Given the description of an element on the screen output the (x, y) to click on. 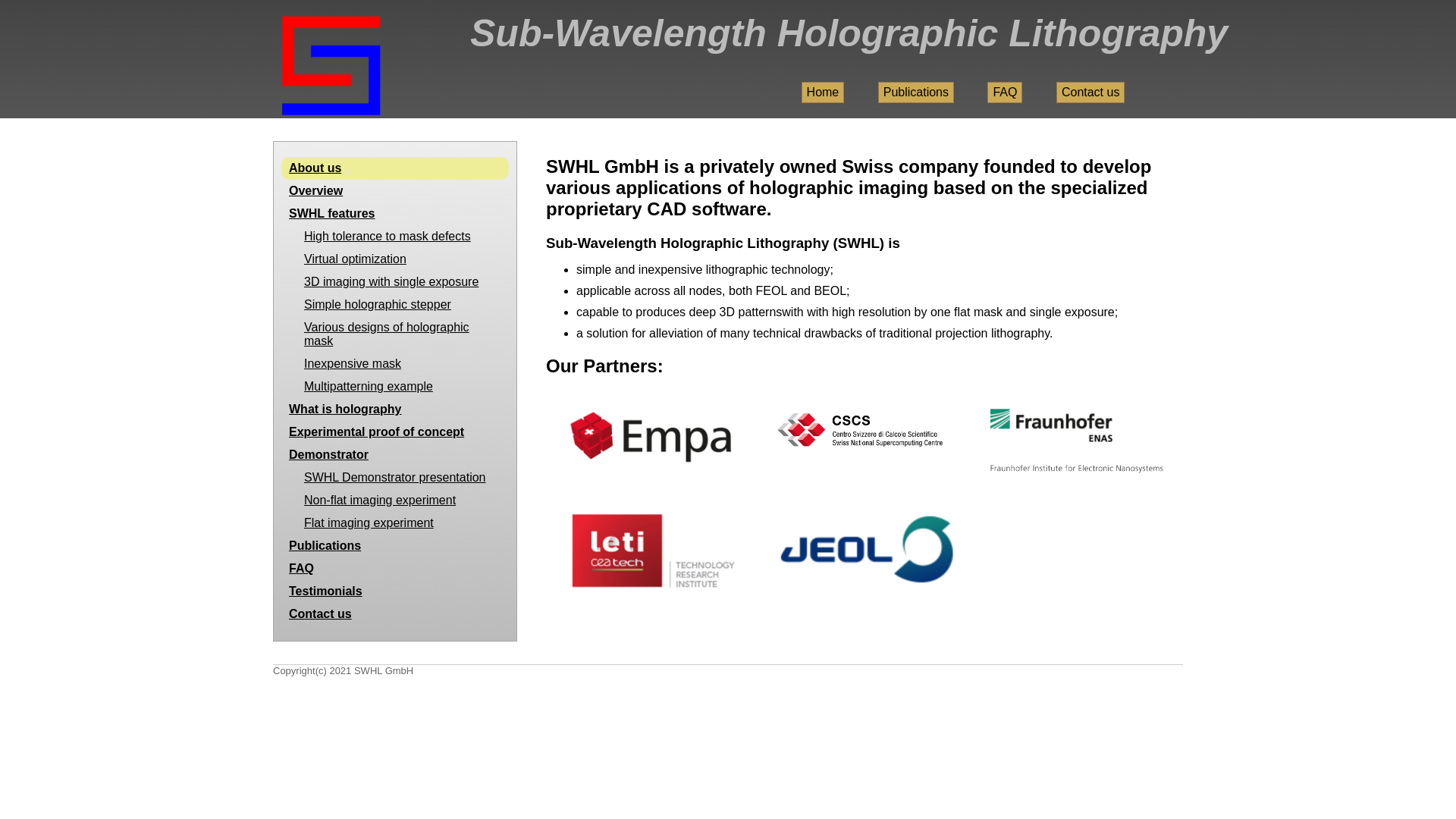
Simple holographic stepper Element type: text (394, 304)
FAQ Element type: text (1004, 92)
High tolerance to mask defects Element type: text (394, 236)
Various designs of holographic mask Element type: text (394, 334)
Home Element type: text (822, 92)
Contact us Element type: text (394, 613)
Multipatterning example Element type: text (394, 386)
FAQ Element type: text (394, 568)
Inexpensive mask Element type: text (394, 363)
Experimental proof of concept Element type: text (394, 431)
Demonstrator Element type: text (394, 454)
Testimonials Element type: text (394, 591)
SWHL features Element type: text (394, 213)
SWHL Demonstrator presentation Element type: text (394, 477)
Publications Element type: text (394, 545)
3D imaging with single exposure Element type: text (394, 281)
Virtual optimization Element type: text (394, 258)
About us Element type: text (394, 167)
Overview Element type: text (394, 190)
Flat imaging experiment Element type: text (394, 522)
Publications Element type: text (915, 92)
What is holography Element type: text (394, 409)
Non-flat imaging experiment Element type: text (394, 500)
Contact us Element type: text (1090, 92)
